Given the description of an element on the screen output the (x, y) to click on. 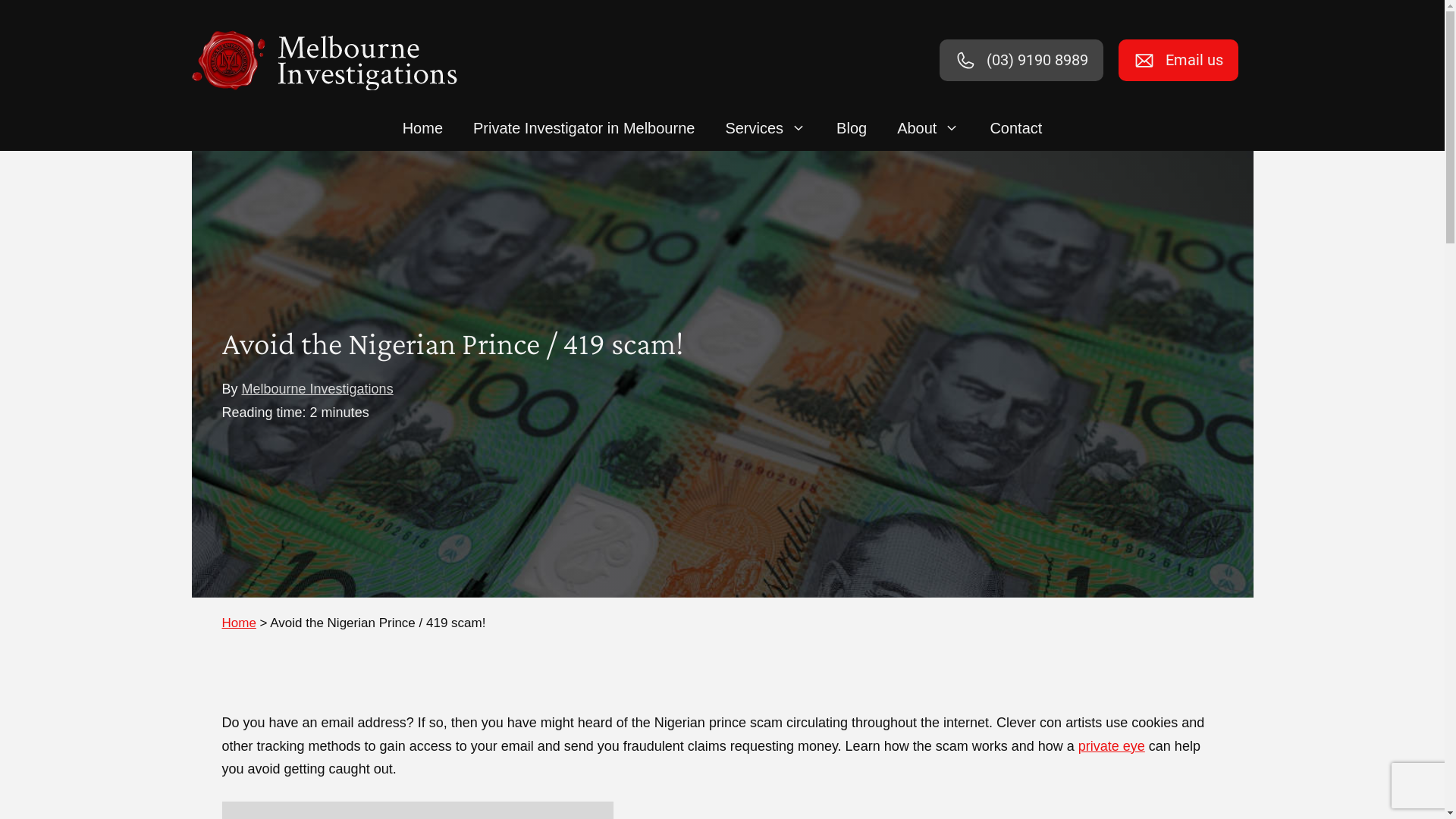
Melbourne Investigations Element type: text (317, 388)
(03) 9190 8989 Element type: text (1020, 60)
Contact Element type: text (1015, 127)
About Element type: text (927, 127)
Services Element type: text (765, 127)
Home Element type: text (238, 622)
melbourne-investigations-logo Element type: hover (323, 60)
Private Investigator in Melbourne Element type: text (583, 127)
Email us Element type: text (1177, 60)
Blog Element type: text (851, 127)
Home Element type: text (422, 127)
private eye Element type: text (1111, 745)
